Given the description of an element on the screen output the (x, y) to click on. 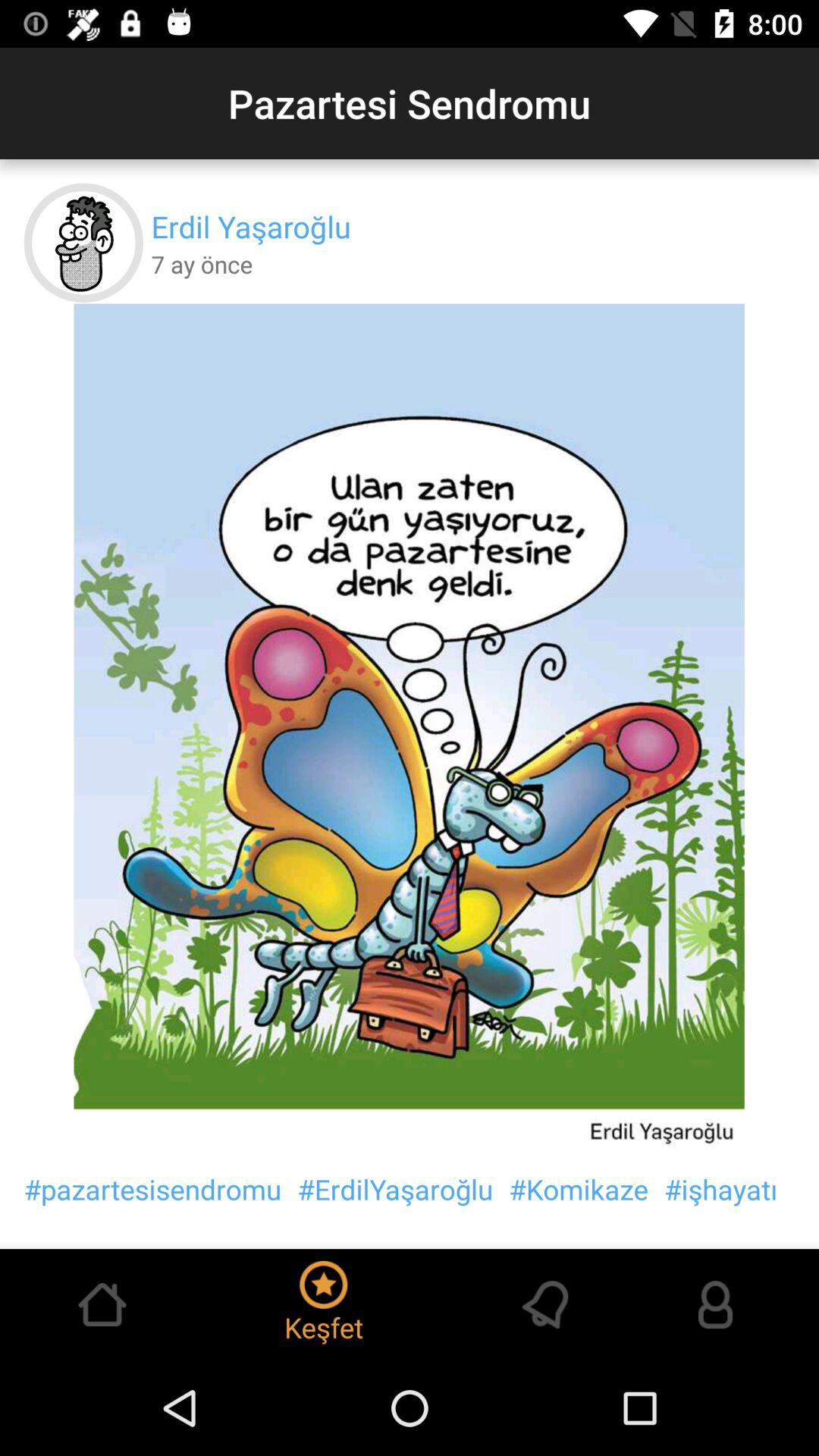
flip until the #komikaze icon (578, 1189)
